Given the description of an element on the screen output the (x, y) to click on. 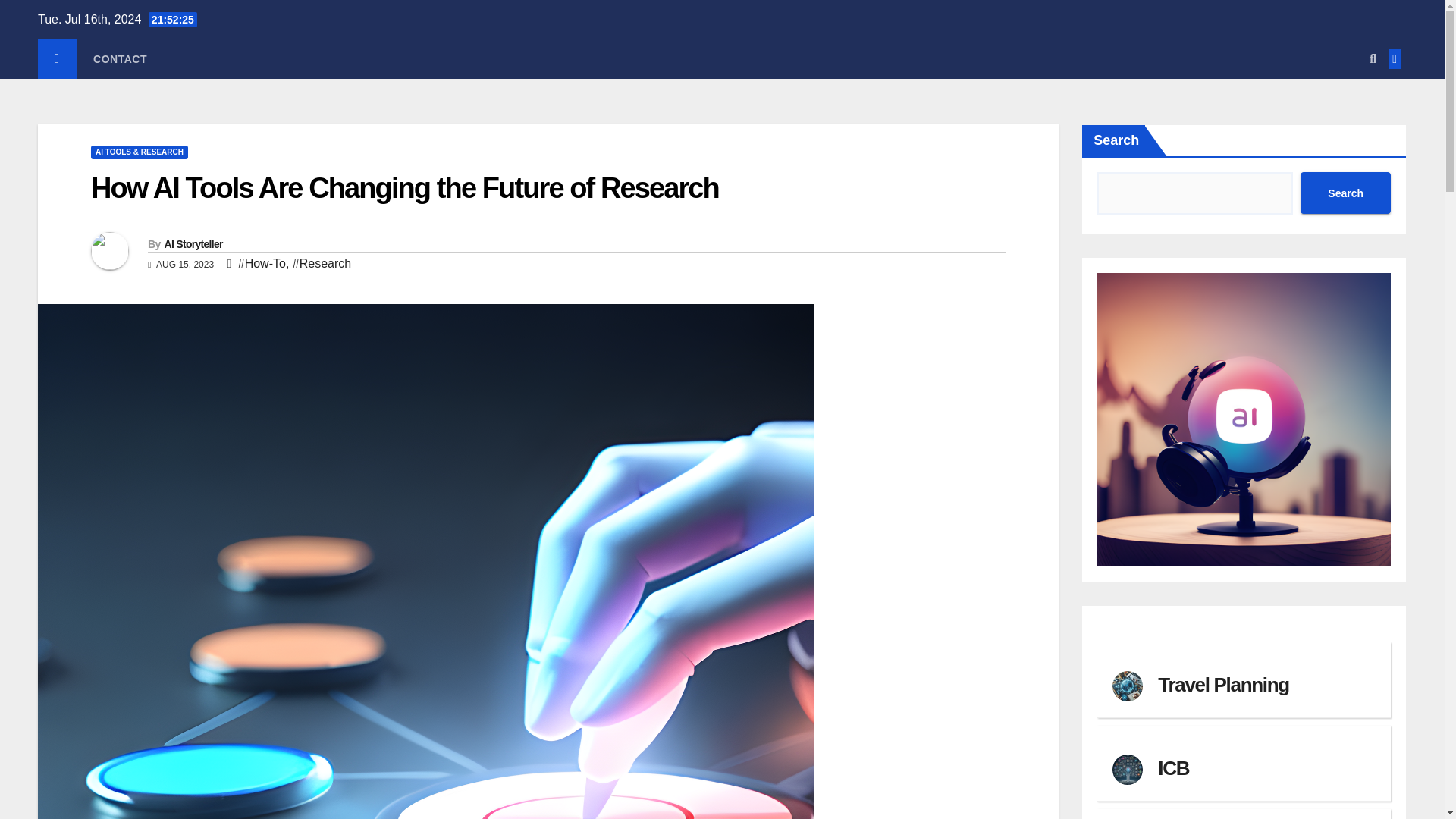
AI Storyteller (192, 244)
Contact (120, 58)
How AI Tools Are Changing the Future of Research (404, 187)
Search (1345, 192)
CONTACT (120, 58)
